Given the description of an element on the screen output the (x, y) to click on. 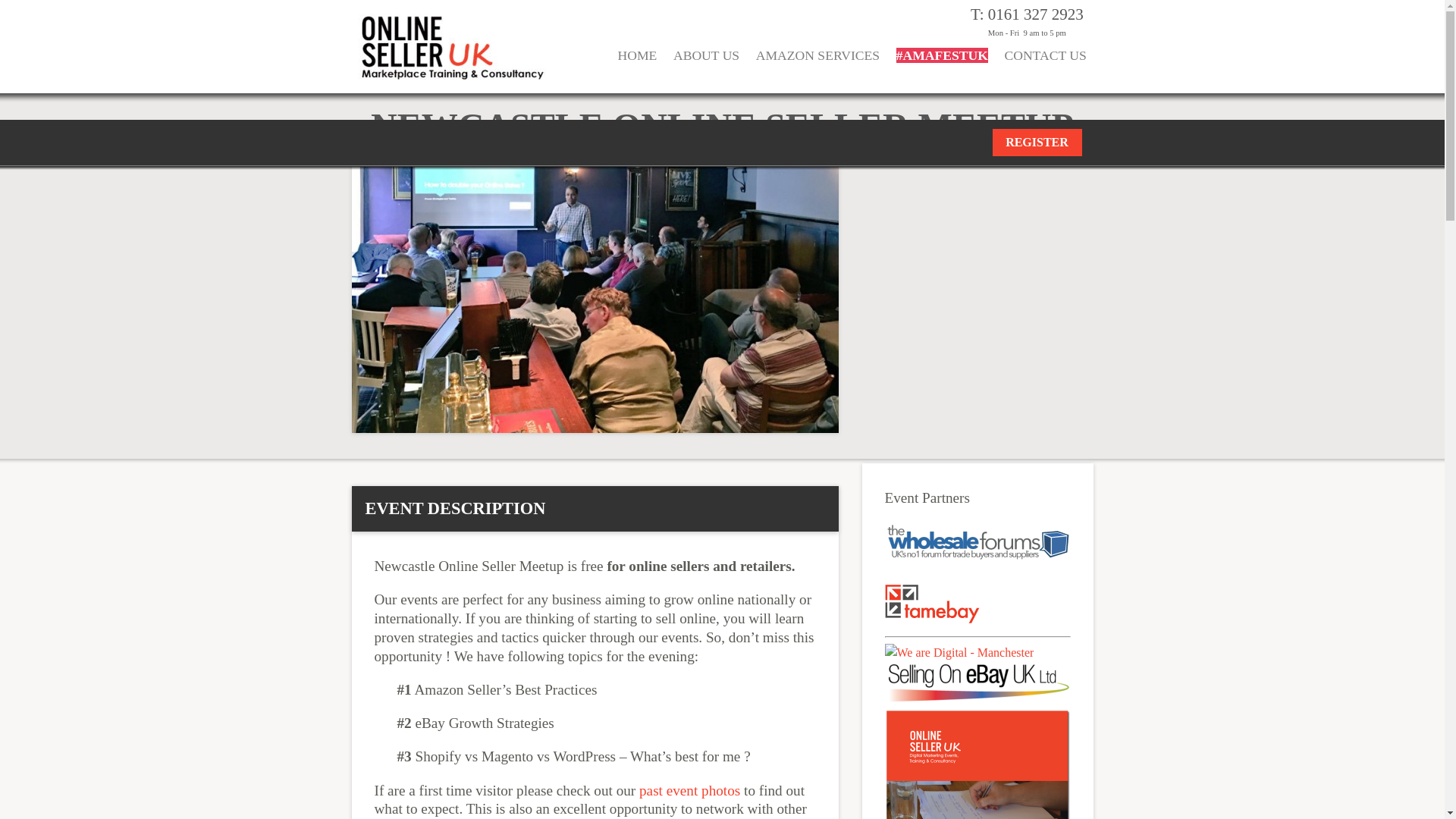
CONTACT US (1045, 64)
AMAZON SERVICES (817, 64)
past event photos (689, 790)
HOME (637, 64)
ABOUT US (705, 64)
REGISTER (1036, 142)
Tamebay Support Online Seller Wales Events (930, 603)
